Given the description of an element on the screen output the (x, y) to click on. 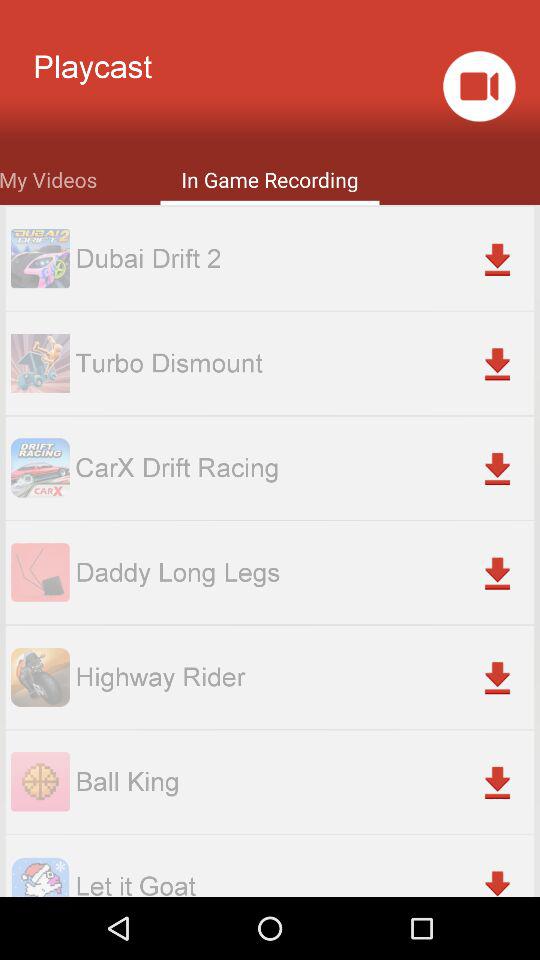
flip until let it goat item (304, 882)
